Given the description of an element on the screen output the (x, y) to click on. 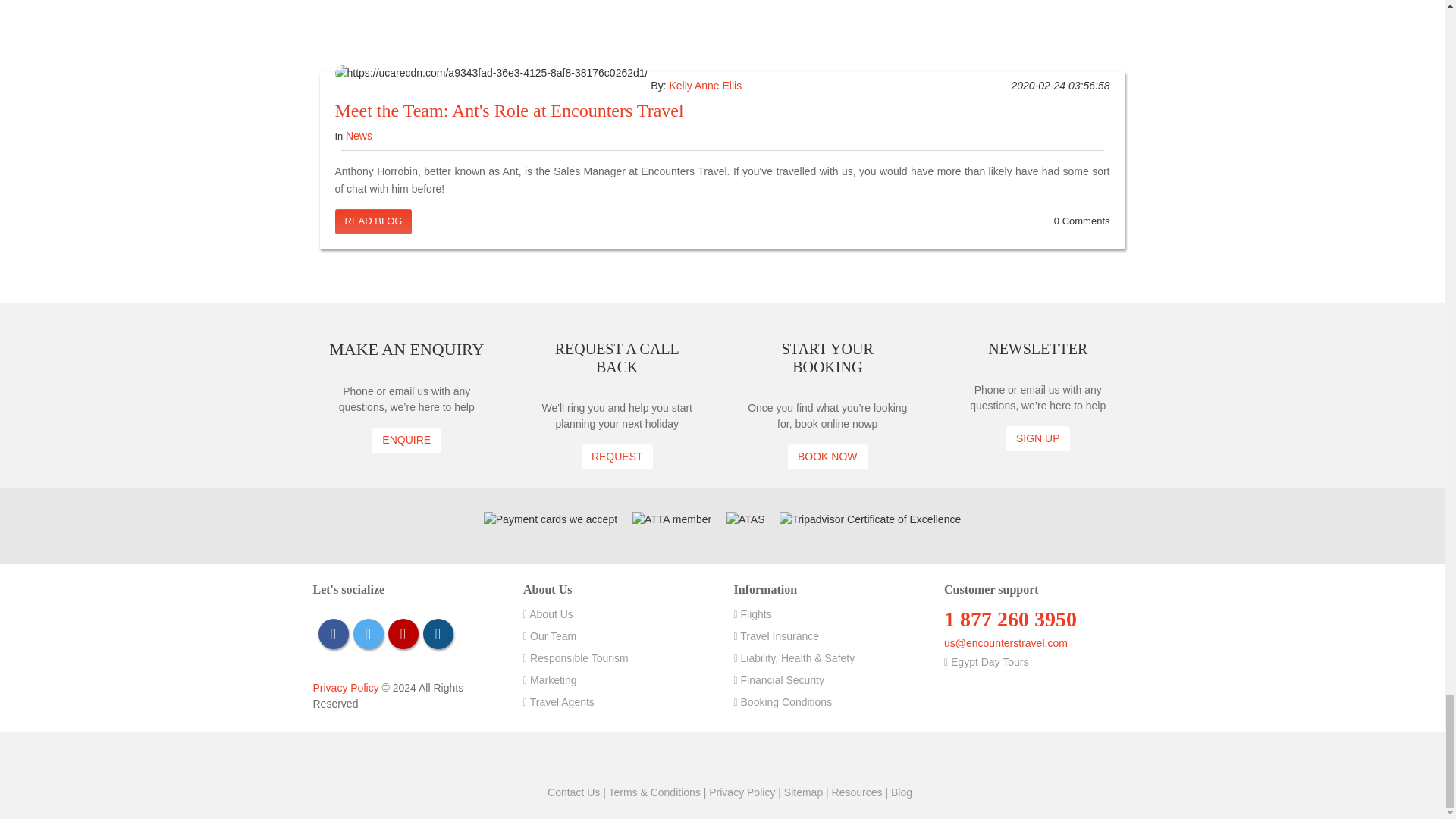
Read Blog (373, 221)
Newsletter sign up (1038, 438)
Start your booking (827, 456)
Encounters Travel India (775, 761)
Encounters Travel Europe (797, 761)
Encounters Travel New Zealand (752, 761)
Request a call back (616, 456)
Encounters Travel South Africa (683, 761)
Make an enquiry (406, 440)
Encounters Travel United Kingdom (659, 761)
Contact Us (573, 792)
Encounters Travel Australia (729, 761)
Encounters Travel Canada (705, 761)
Encounters Travel USA (637, 761)
